Given the description of an element on the screen output the (x, y) to click on. 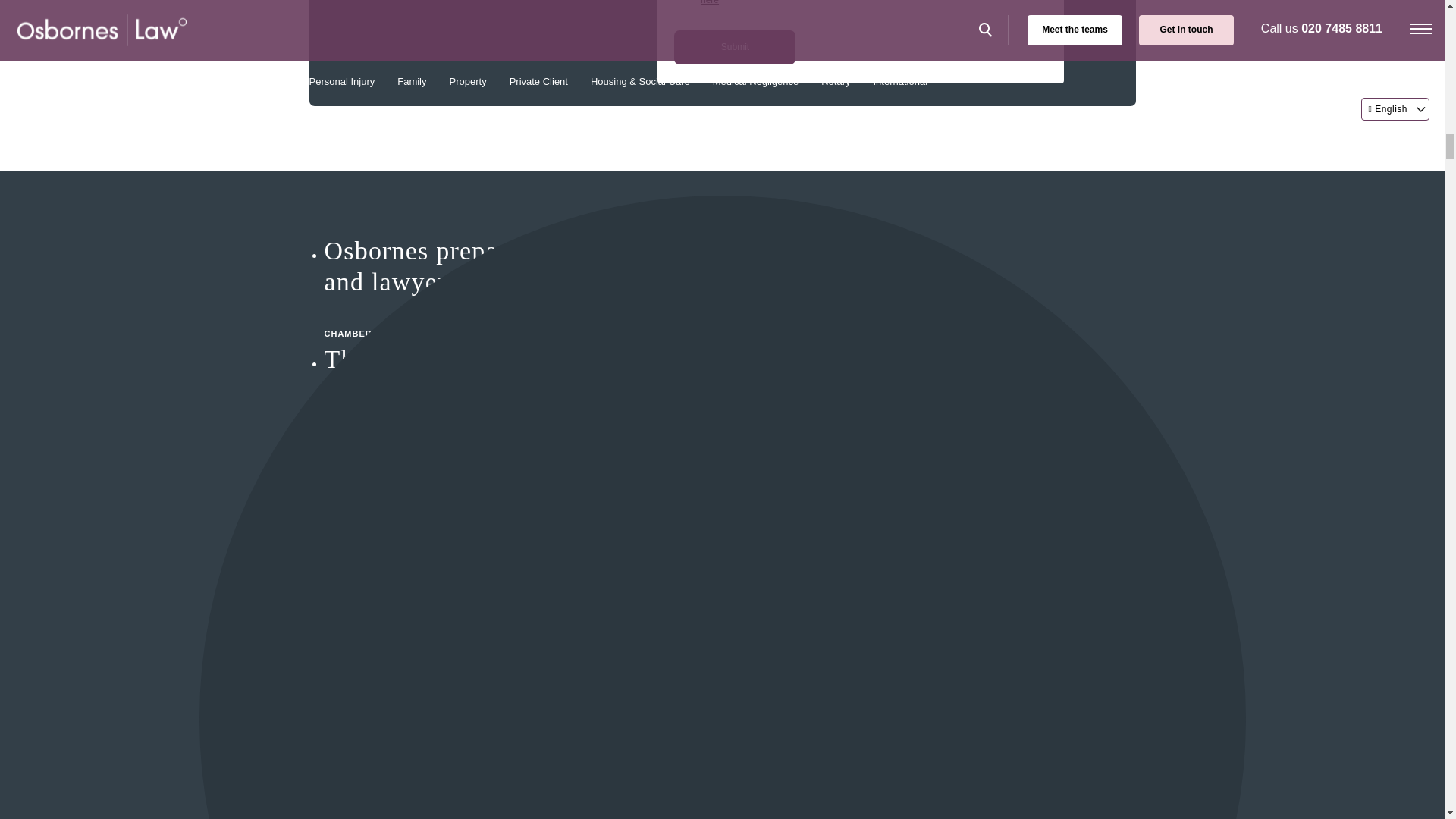
CHAMBERS UK 2024 (627, 806)
CHAMBERS UK 2024 (627, 597)
CHAMBERS UK 2024 (627, 705)
CHAMBERS UK 2024 (627, 318)
CHAMBERS UK 2024 (627, 457)
Submit (734, 47)
